Given the description of an element on the screen output the (x, y) to click on. 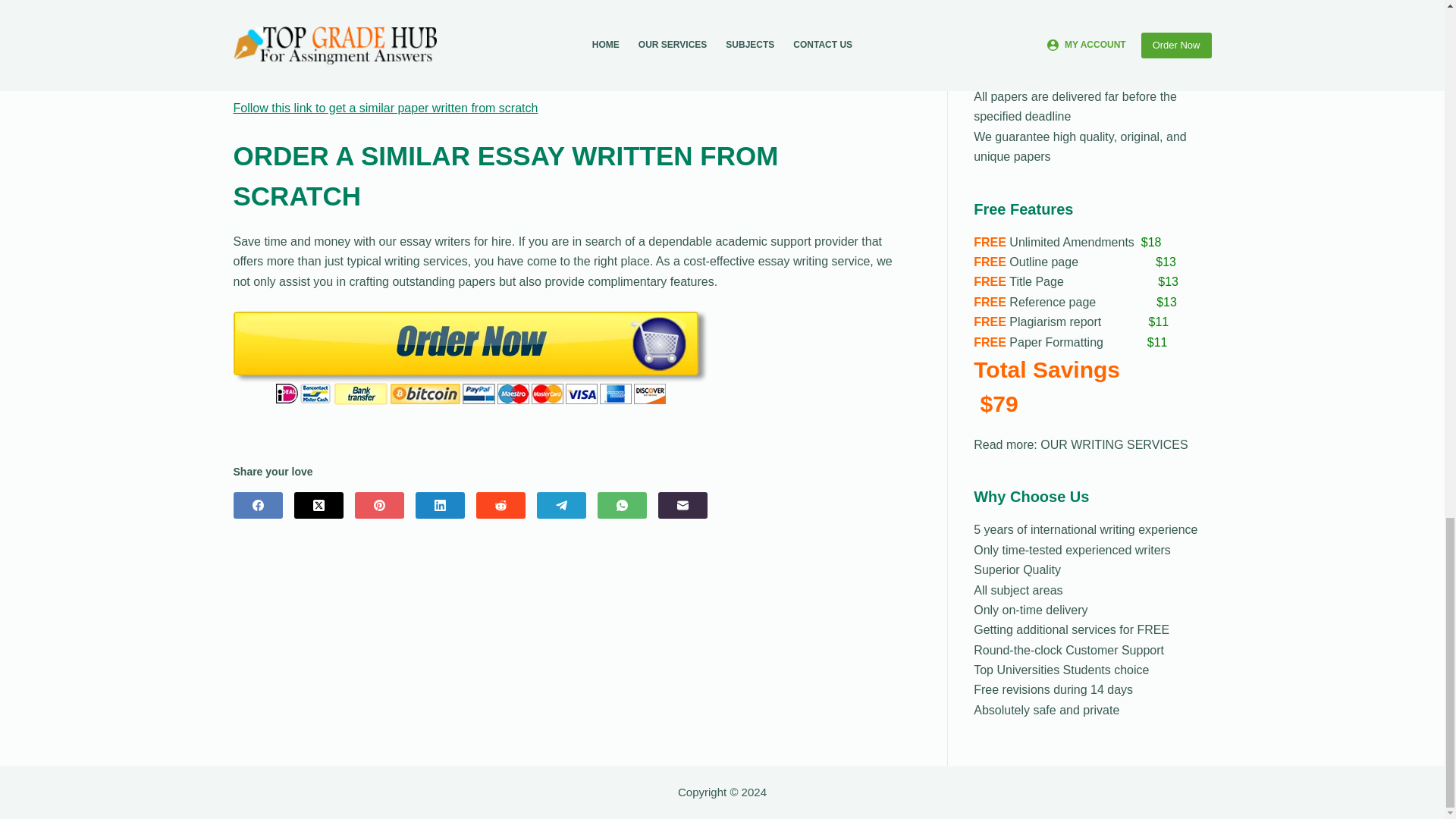
PLACE an ORDER. (1141, 36)
OUR WRITING SERVICES (1114, 444)
Follow this link to get a similar paper written from scratch (385, 107)
